Given the description of an element on the screen output the (x, y) to click on. 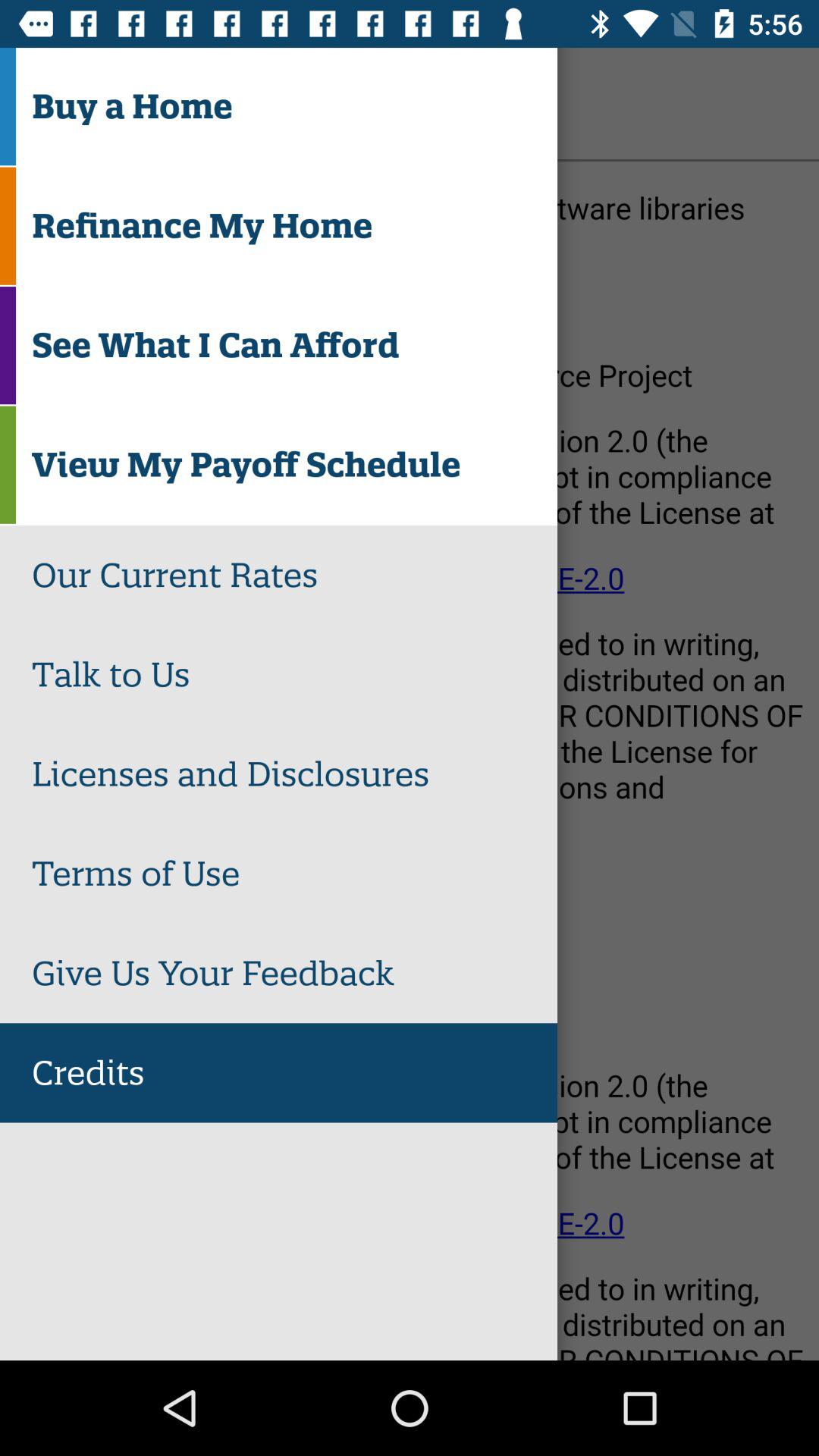
click terms of use icon (294, 873)
